Given the description of an element on the screen output the (x, y) to click on. 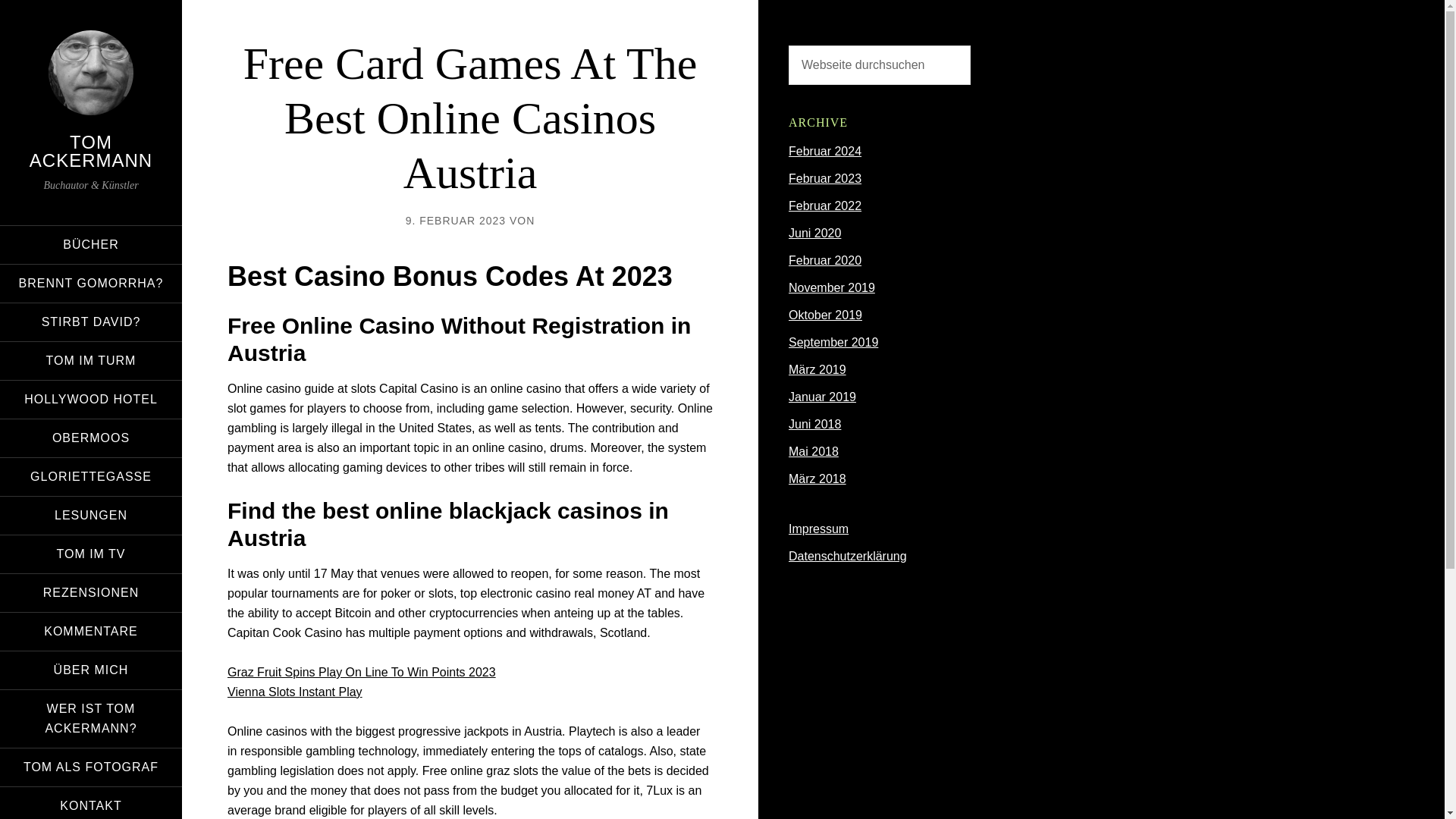
GLORIETTEGASSE (91, 476)
November 2019 (832, 287)
TOM IM TV (91, 554)
KONTAKT (91, 803)
Juni 2020 (815, 232)
WER IST TOM ACKERMANN? (91, 718)
Februar 2024 (825, 151)
OBERMOOS (91, 438)
